Given the description of an element on the screen output the (x, y) to click on. 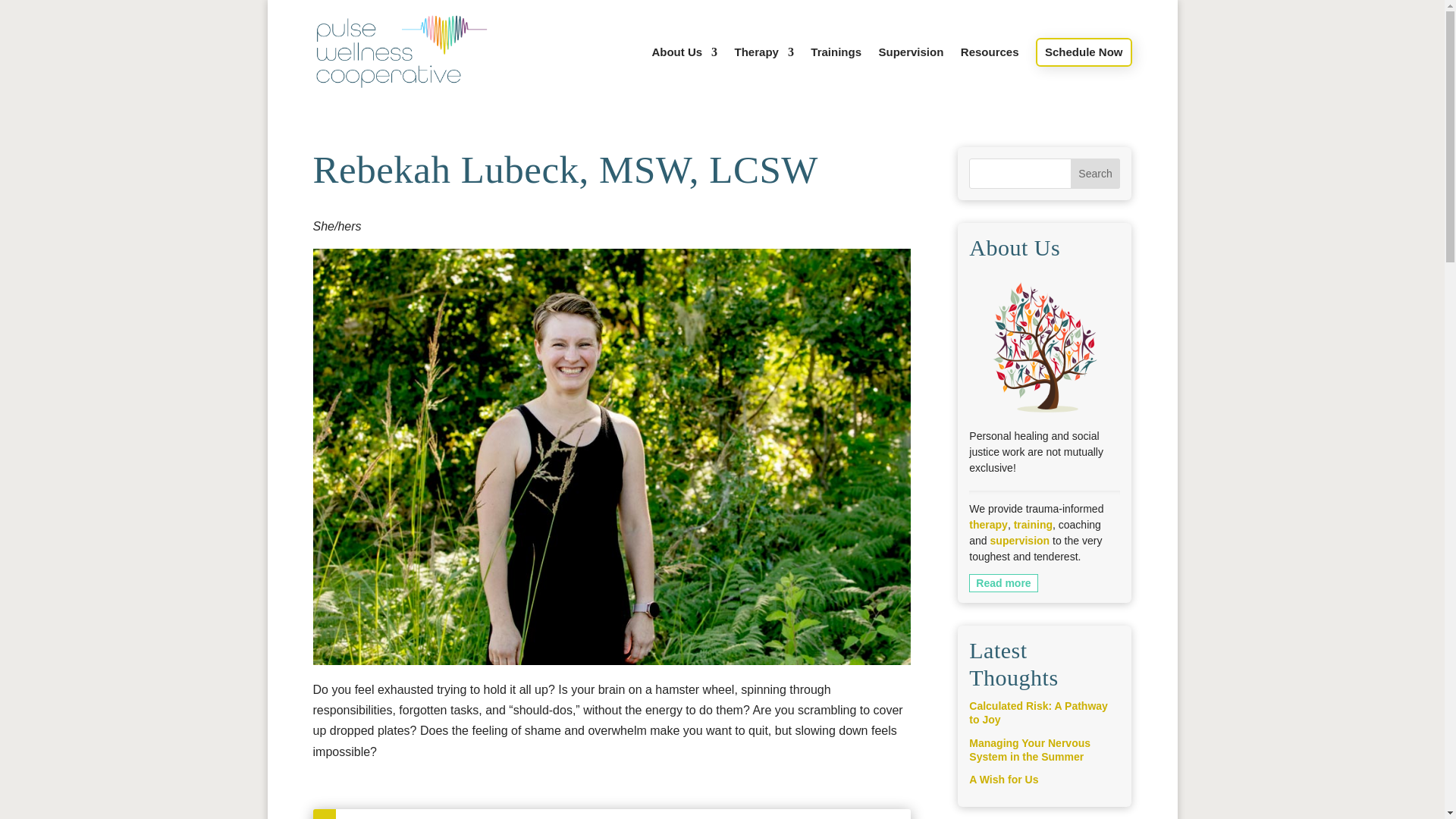
Schedule Now (1083, 51)
Therapy (764, 64)
Trainings (835, 64)
Search (1095, 173)
About Us (683, 64)
Resources (989, 64)
Supervision (910, 64)
